Given the description of an element on the screen output the (x, y) to click on. 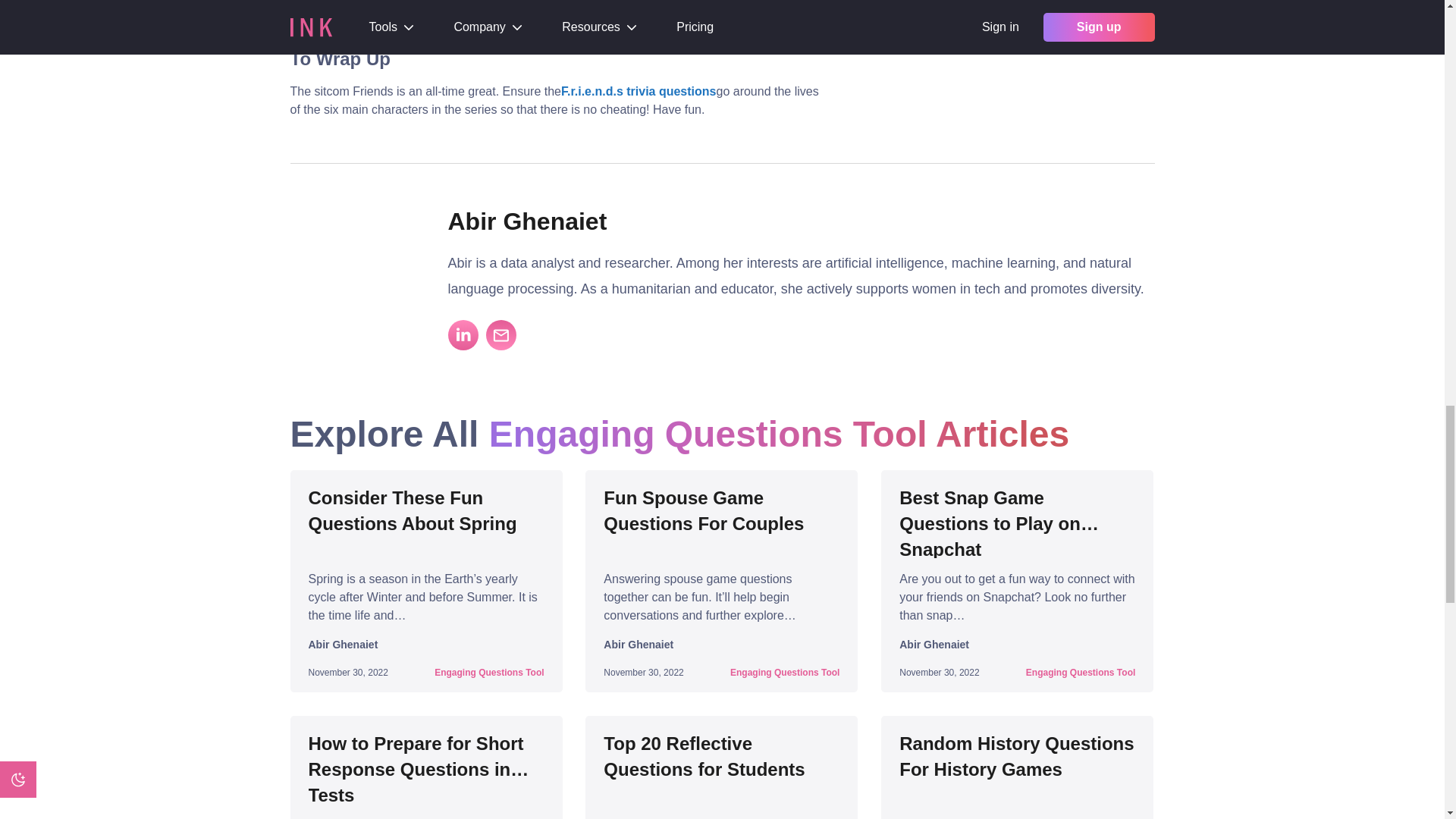
Abir Ghenaiet LinkedIn (461, 335)
Email Abir Ghenaiet (499, 335)
